Given the description of an element on the screen output the (x, y) to click on. 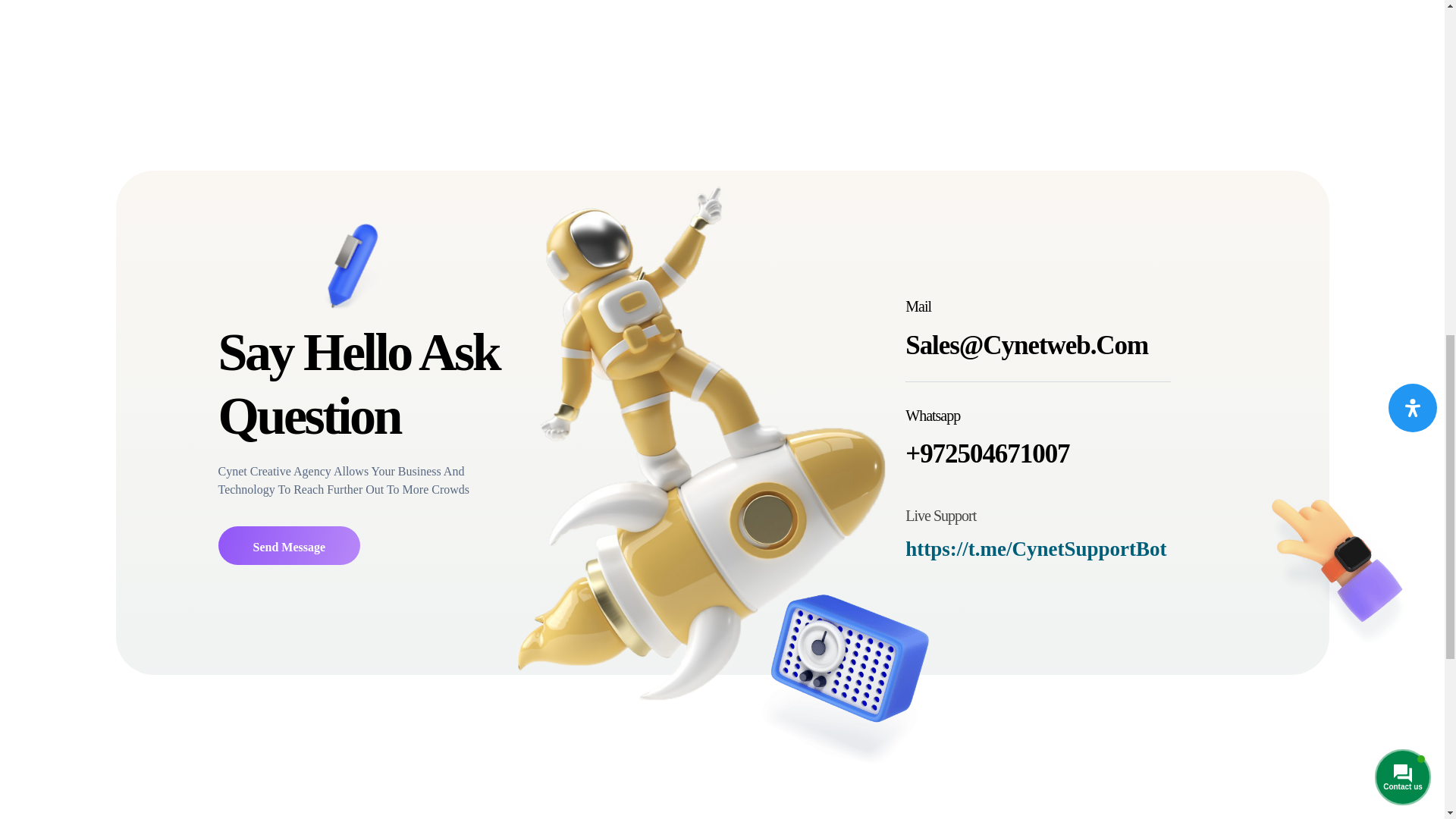
Send Message (289, 545)
